Given the description of an element on the screen output the (x, y) to click on. 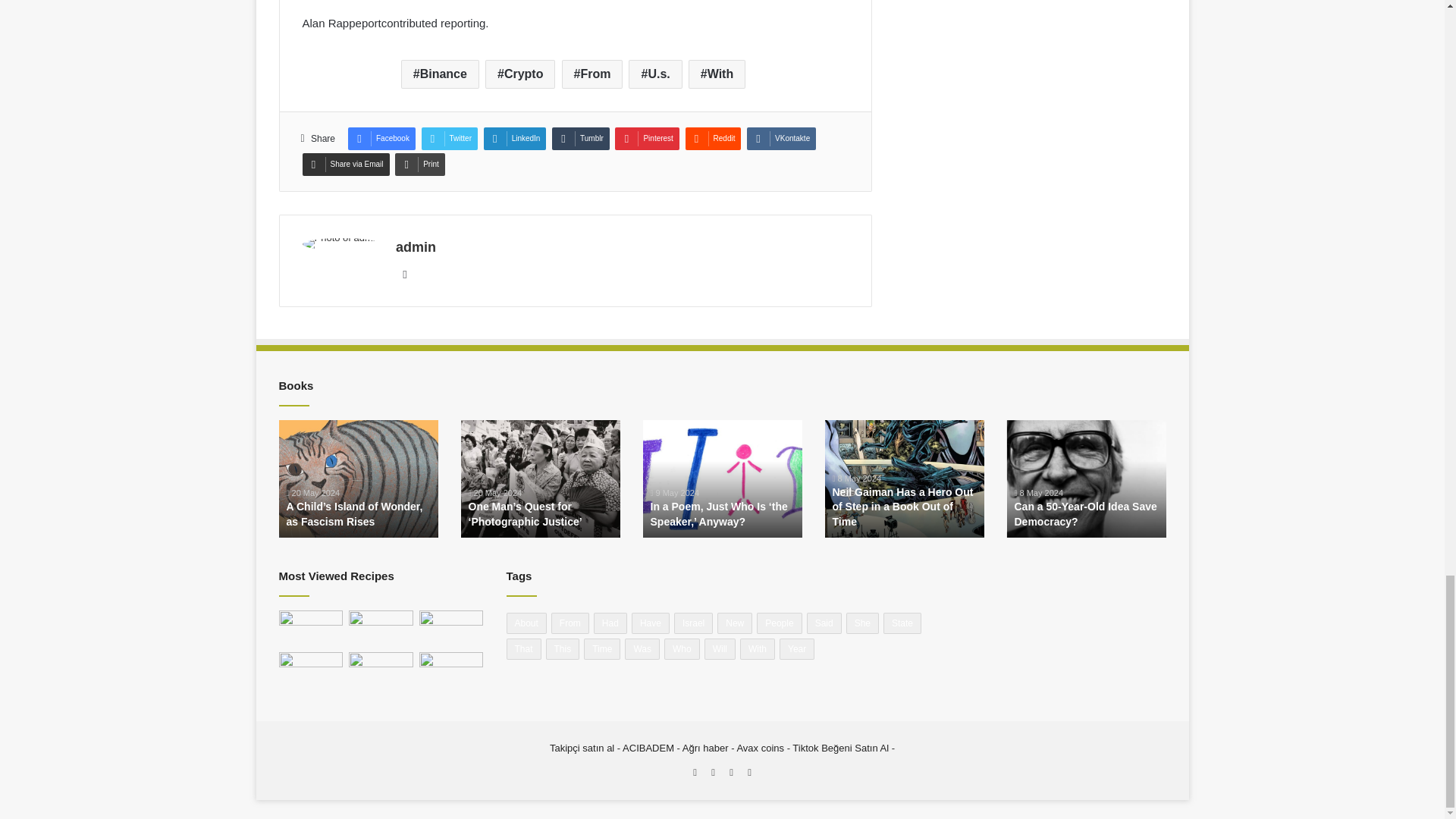
Crypto (519, 73)
LinkedIn (515, 138)
LinkedIn (515, 138)
Facebook (380, 138)
Pinterest (646, 138)
Twitter (449, 138)
Twitter (449, 138)
U.s. (654, 73)
With (716, 73)
Binance (440, 73)
Reddit (713, 138)
Facebook (380, 138)
From (592, 73)
VKontakte (780, 138)
Tumblr (580, 138)
